Given the description of an element on the screen output the (x, y) to click on. 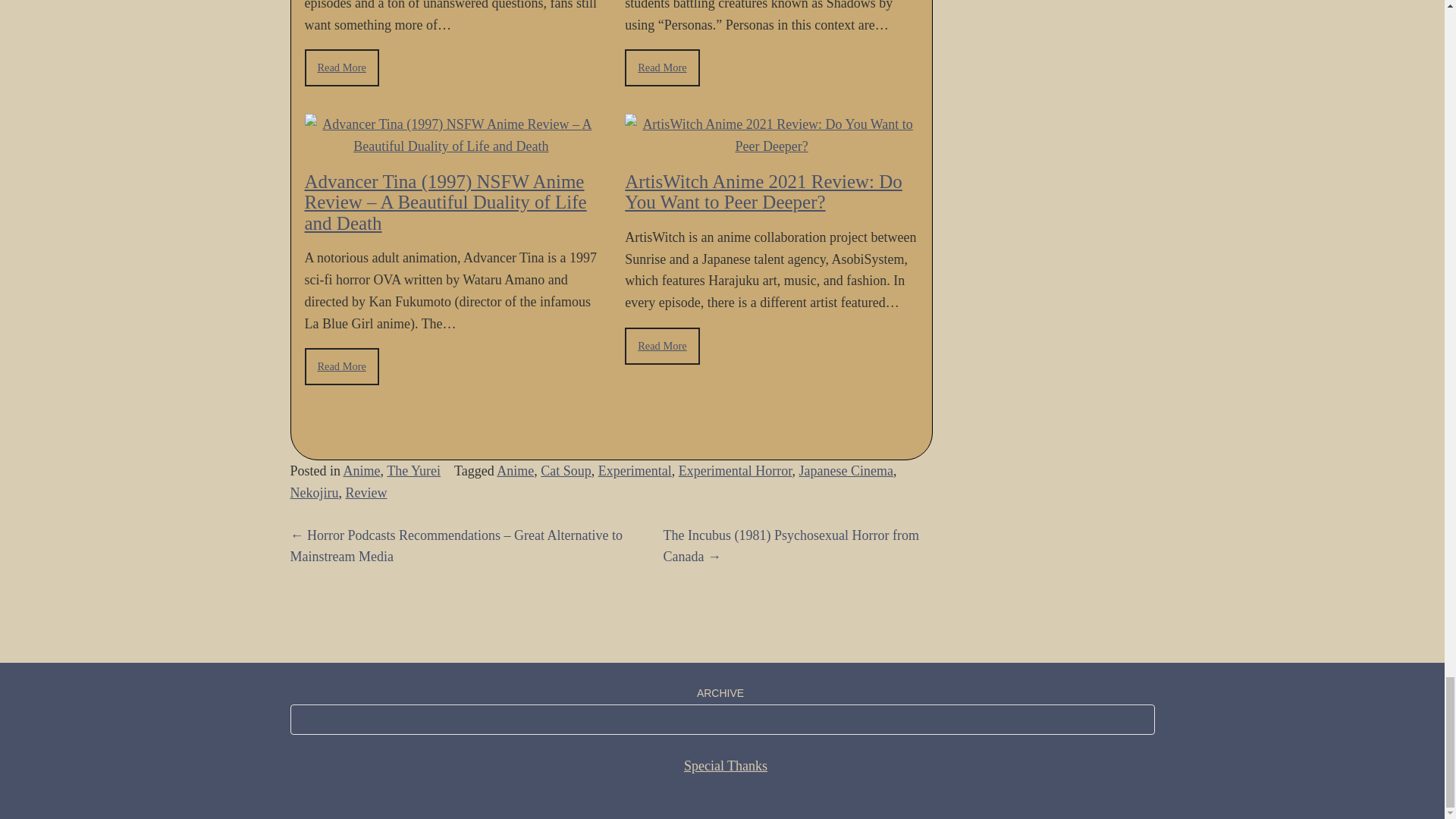
Read More (661, 67)
Read More (661, 345)
Experimental (634, 470)
The Yurei (414, 470)
Read More (341, 67)
Anime (361, 470)
Cat Soup (565, 470)
Anime (515, 470)
Read More (341, 366)
ArtisWitch Anime 2021 Review: Do You Want to Peer Deeper? (763, 191)
